Given the description of an element on the screen output the (x, y) to click on. 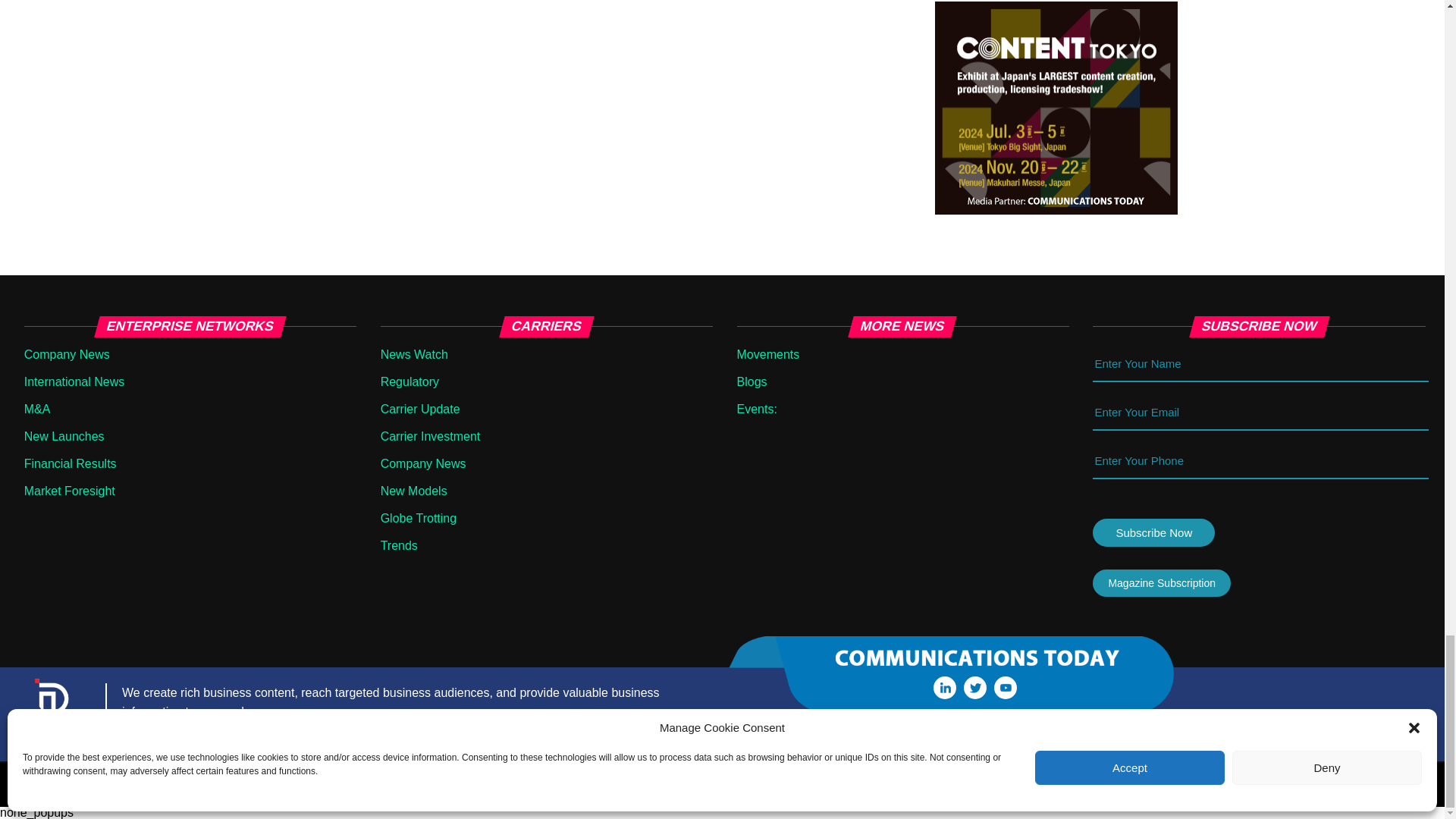
Subscribe Now (1153, 532)
